Given the description of an element on the screen output the (x, y) to click on. 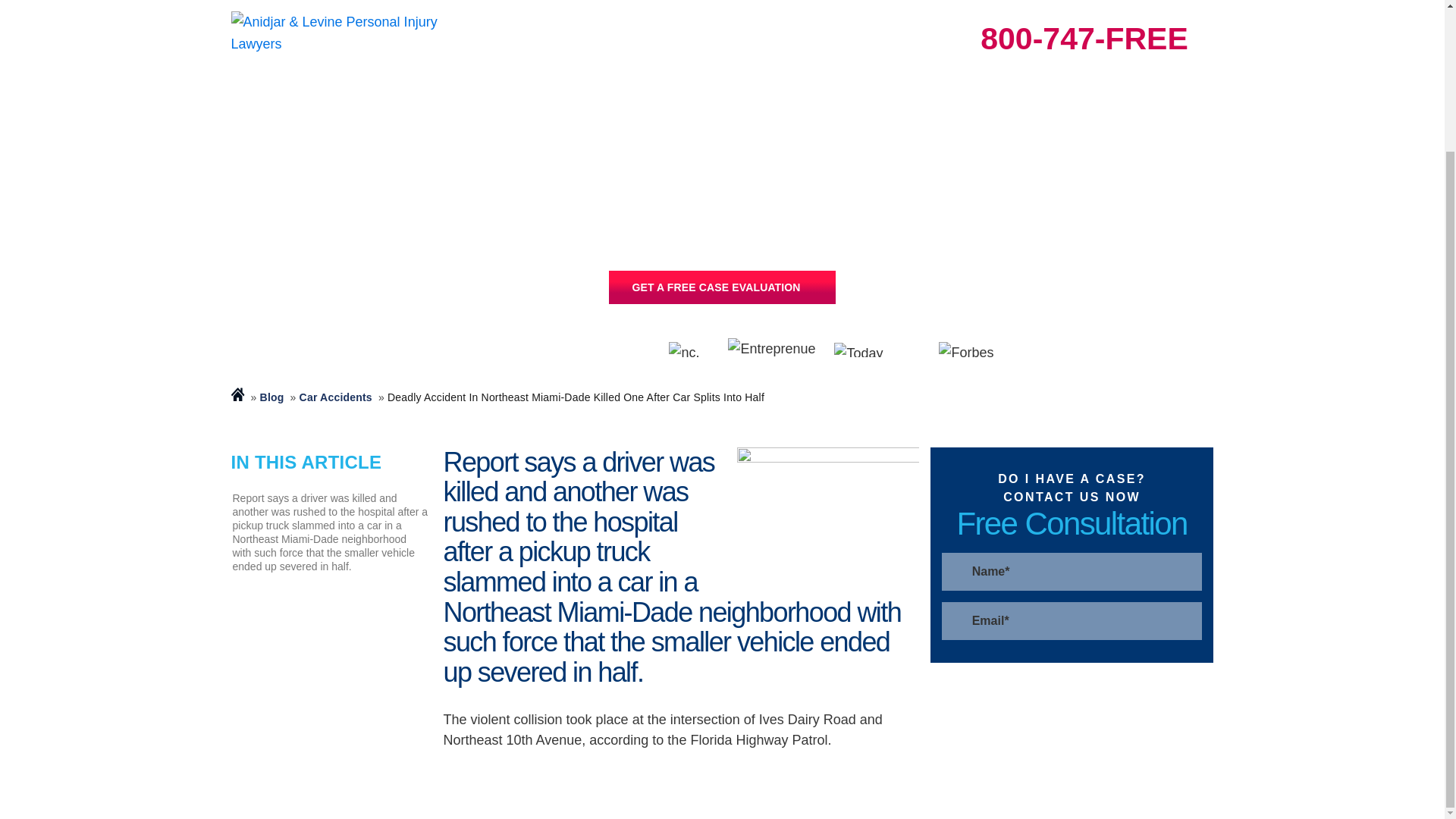
Inc. (690, 349)
Today (878, 349)
Forbes (971, 349)
SPEAK TO AN ATTORNEY NOW  (721, 287)
Entreprenuer (773, 349)
